Given the description of an element on the screen output the (x, y) to click on. 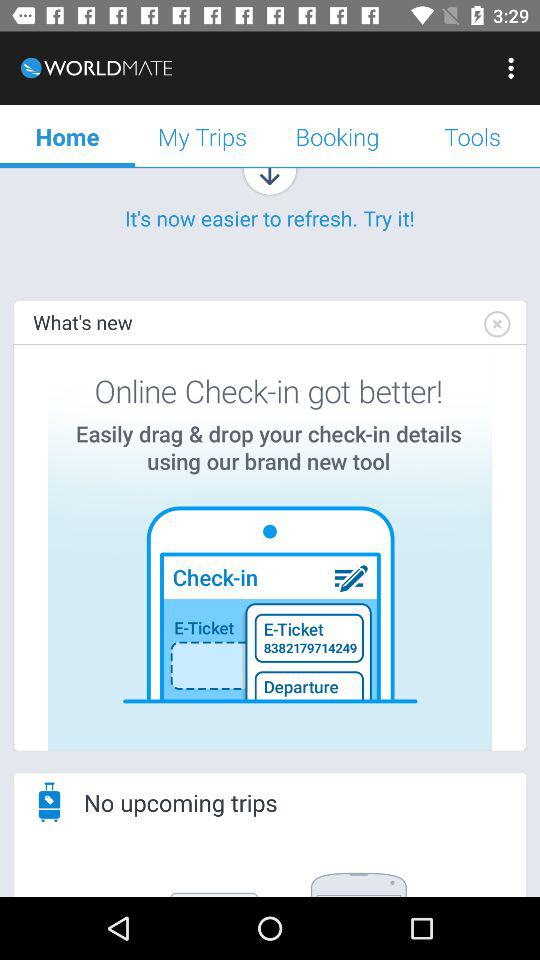
select the icon next to my trips app (337, 136)
